Given the description of an element on the screen output the (x, y) to click on. 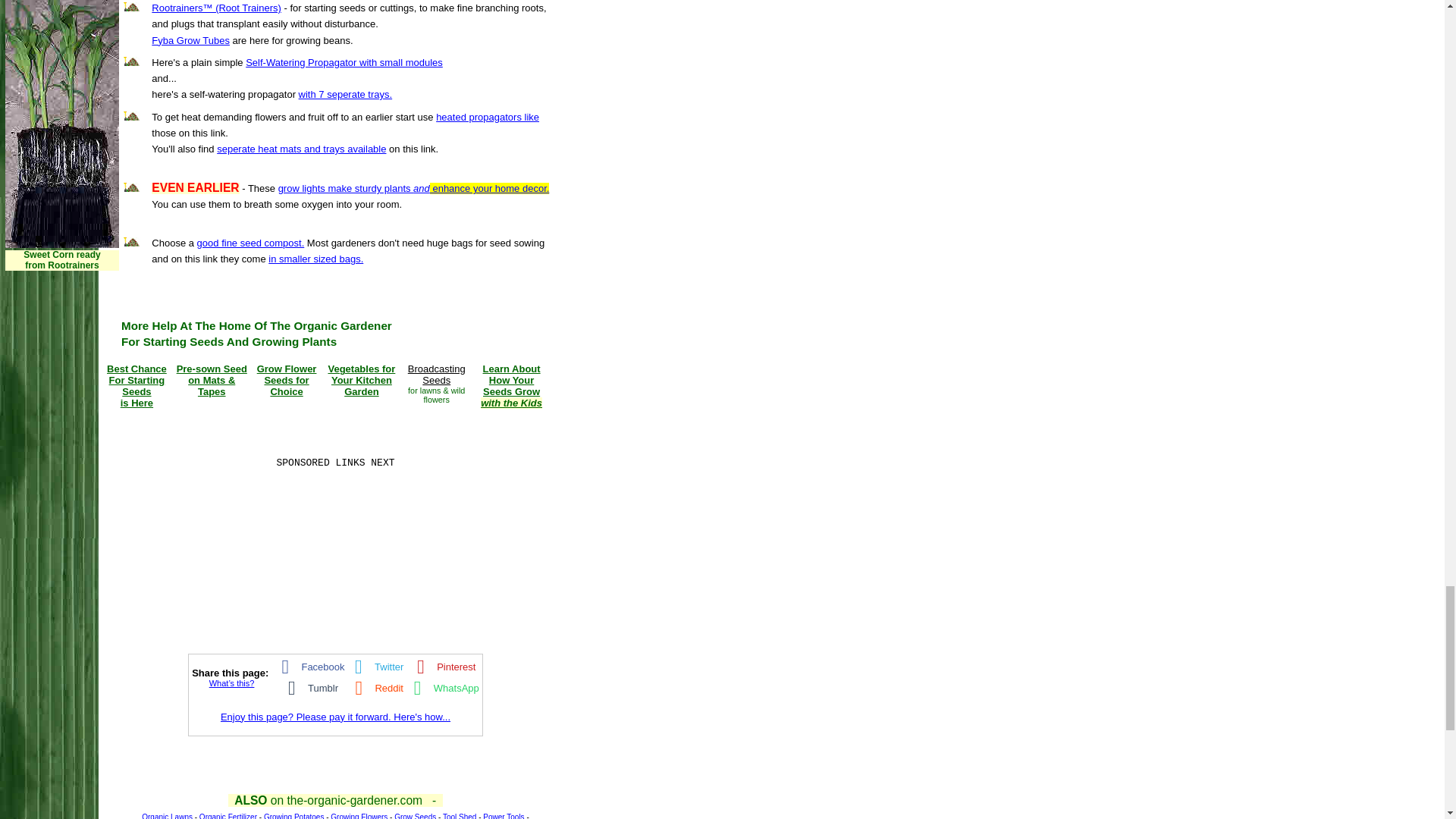
Heated Propagator (486, 116)
Self-Watering Propagator (344, 61)
Root Trainers (216, 7)
